Given the description of an element on the screen output the (x, y) to click on. 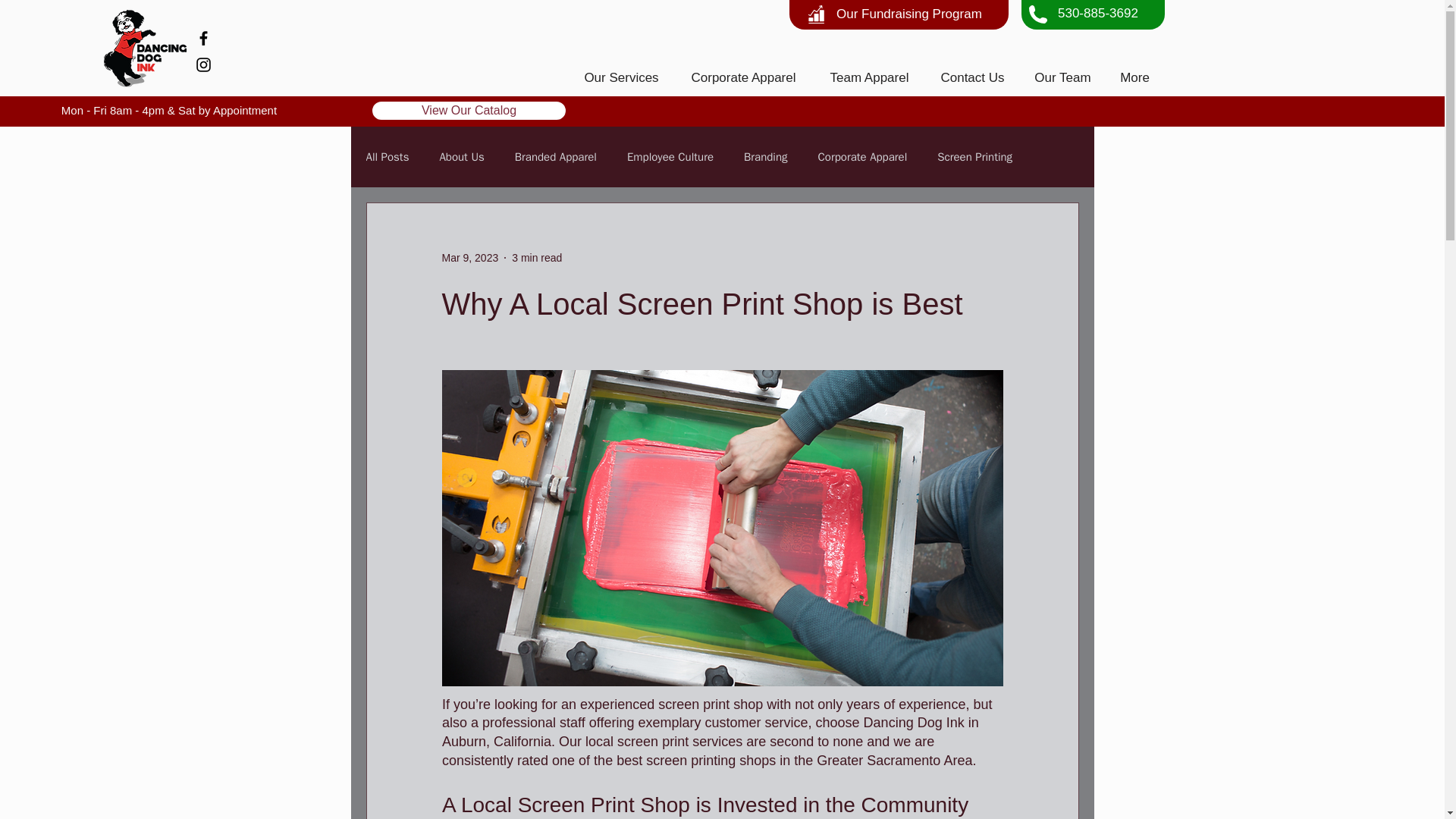
About Us (461, 156)
All Posts (387, 156)
Team Apparel (868, 77)
Screen Printing (974, 156)
Corporate Apparel (862, 156)
Our Team (1062, 77)
Mar 9, 2023 (469, 257)
Our Fundraising Program (908, 13)
Contact Us (972, 77)
Employee Culture (670, 156)
